Given the description of an element on the screen output the (x, y) to click on. 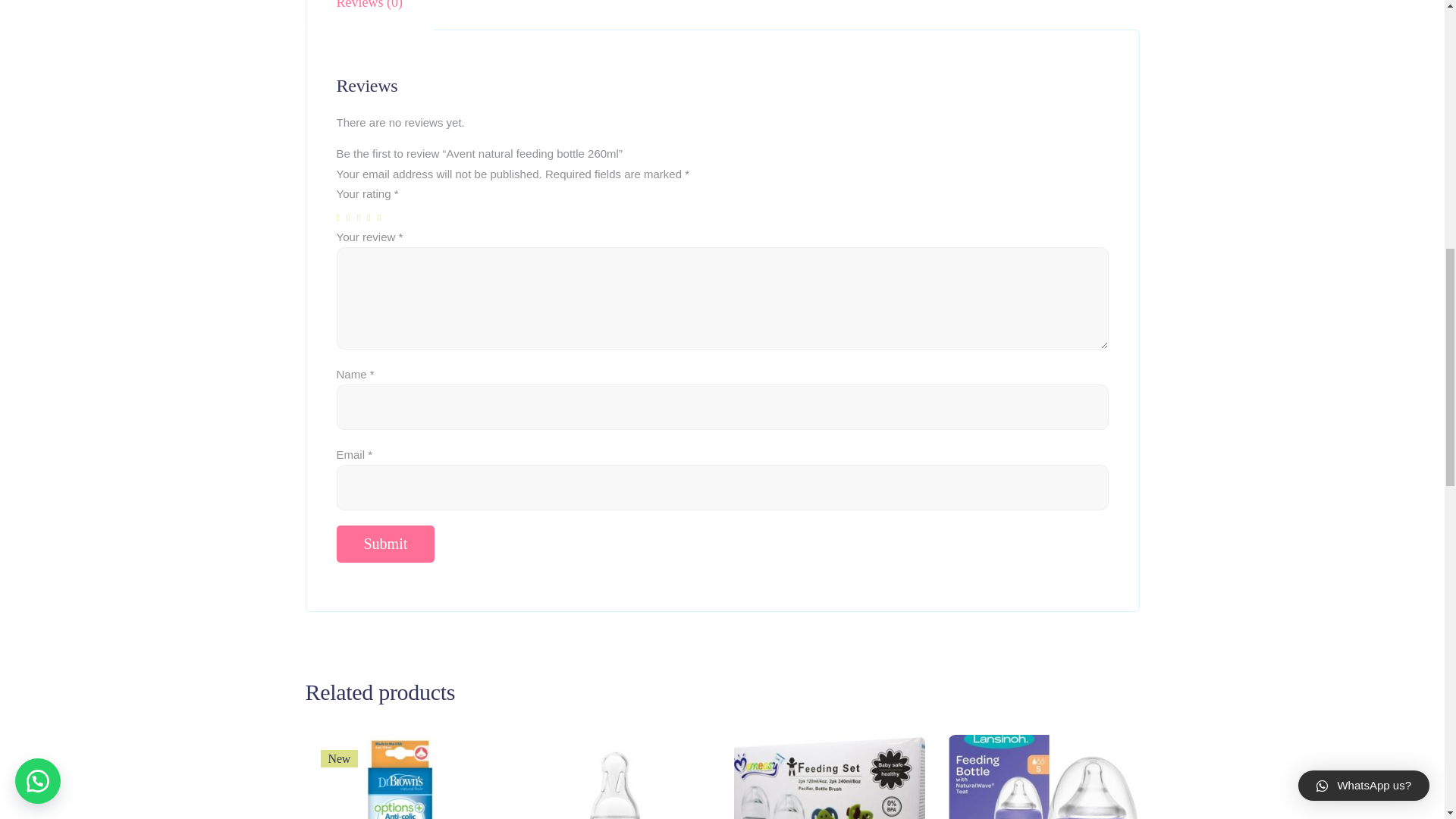
Submit (385, 543)
